Given the description of an element on the screen output the (x, y) to click on. 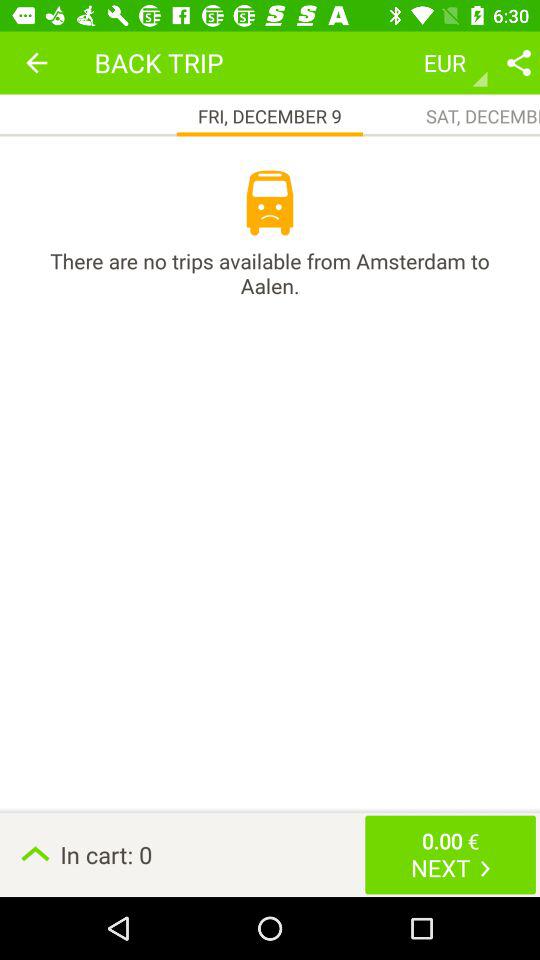
open share button (519, 62)
